Given the description of an element on the screen output the (x, y) to click on. 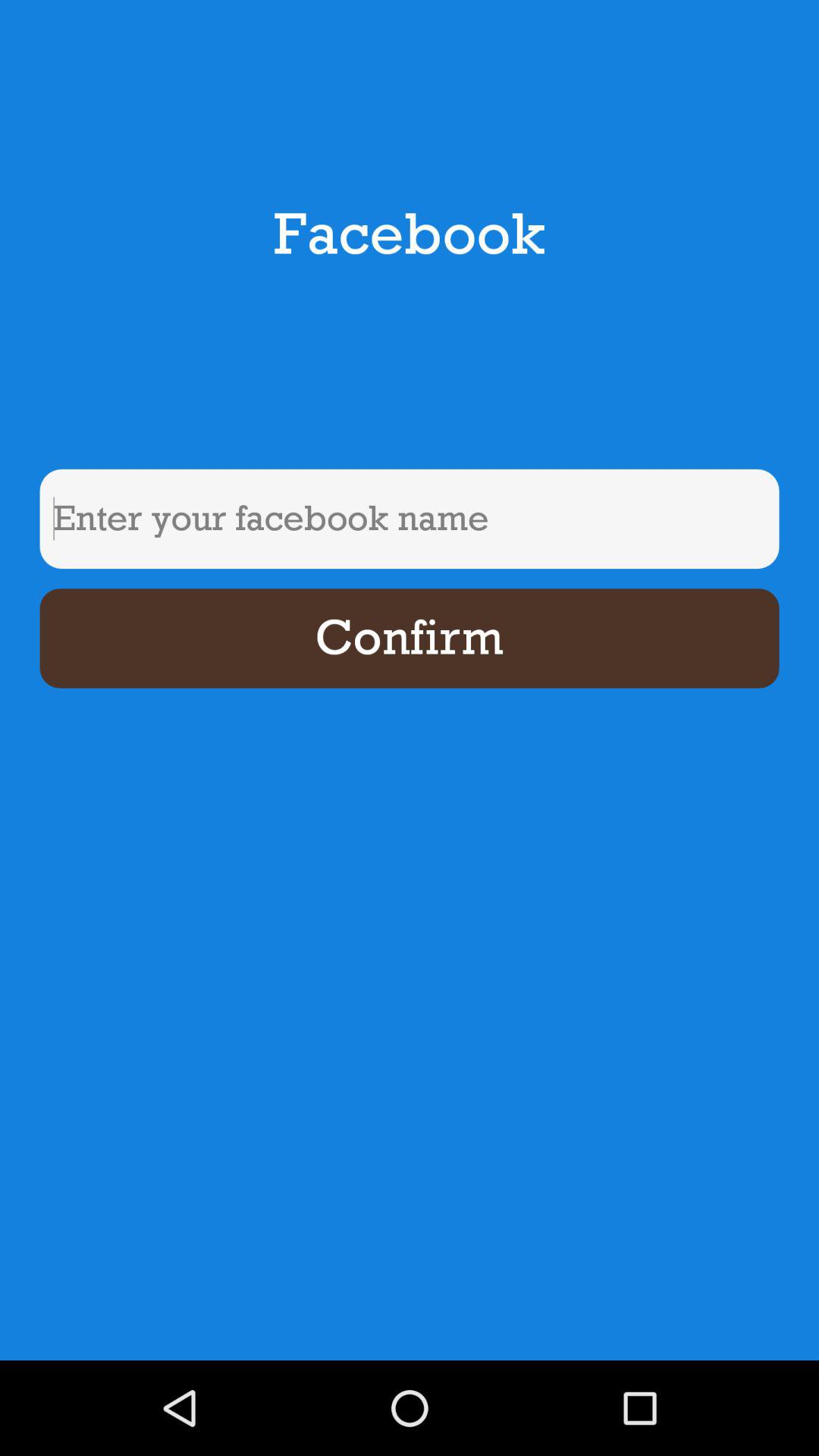
enter facebook name (409, 518)
